Given the description of an element on the screen output the (x, y) to click on. 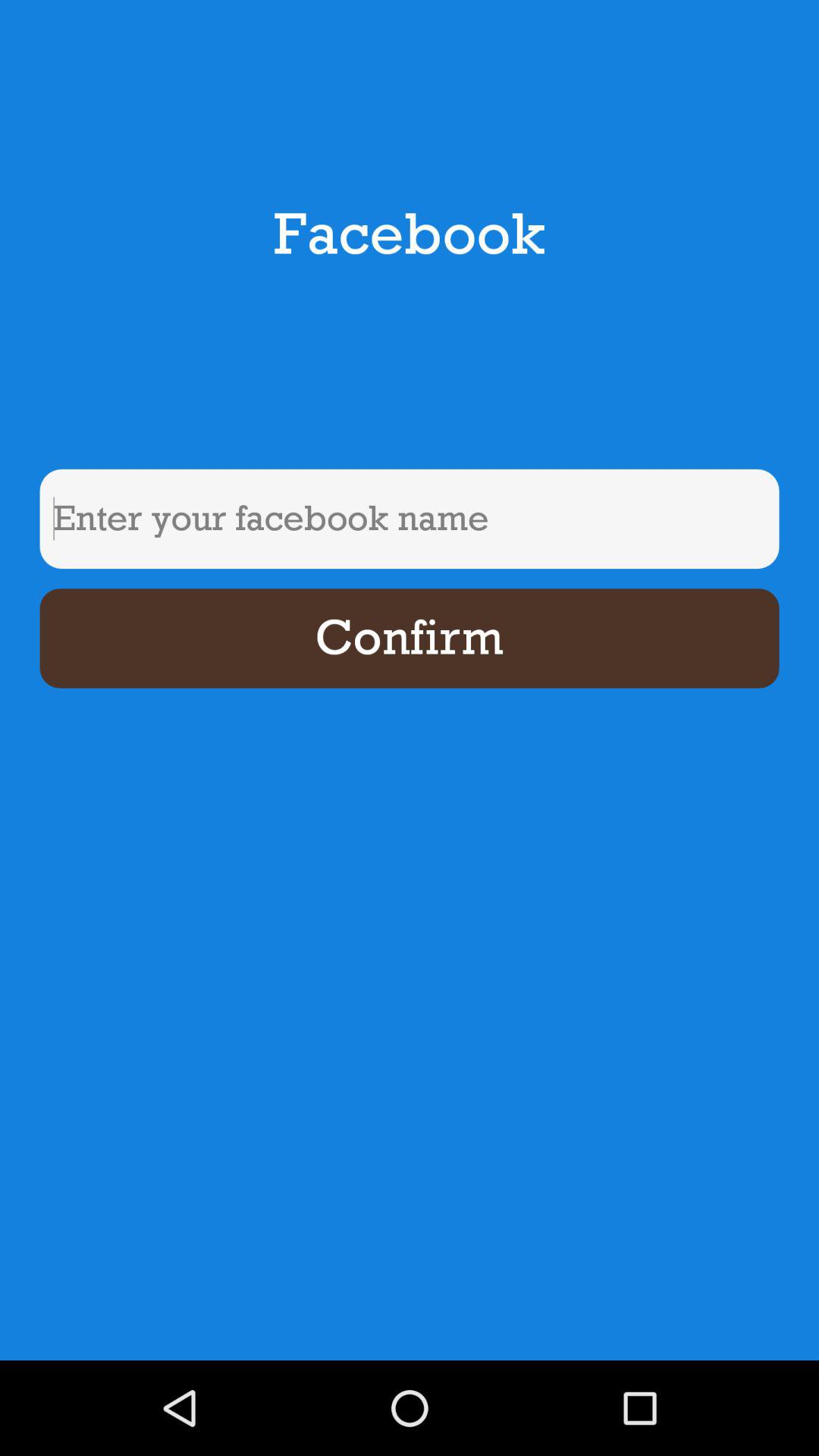
enter facebook name (409, 518)
